Given the description of an element on the screen output the (x, y) to click on. 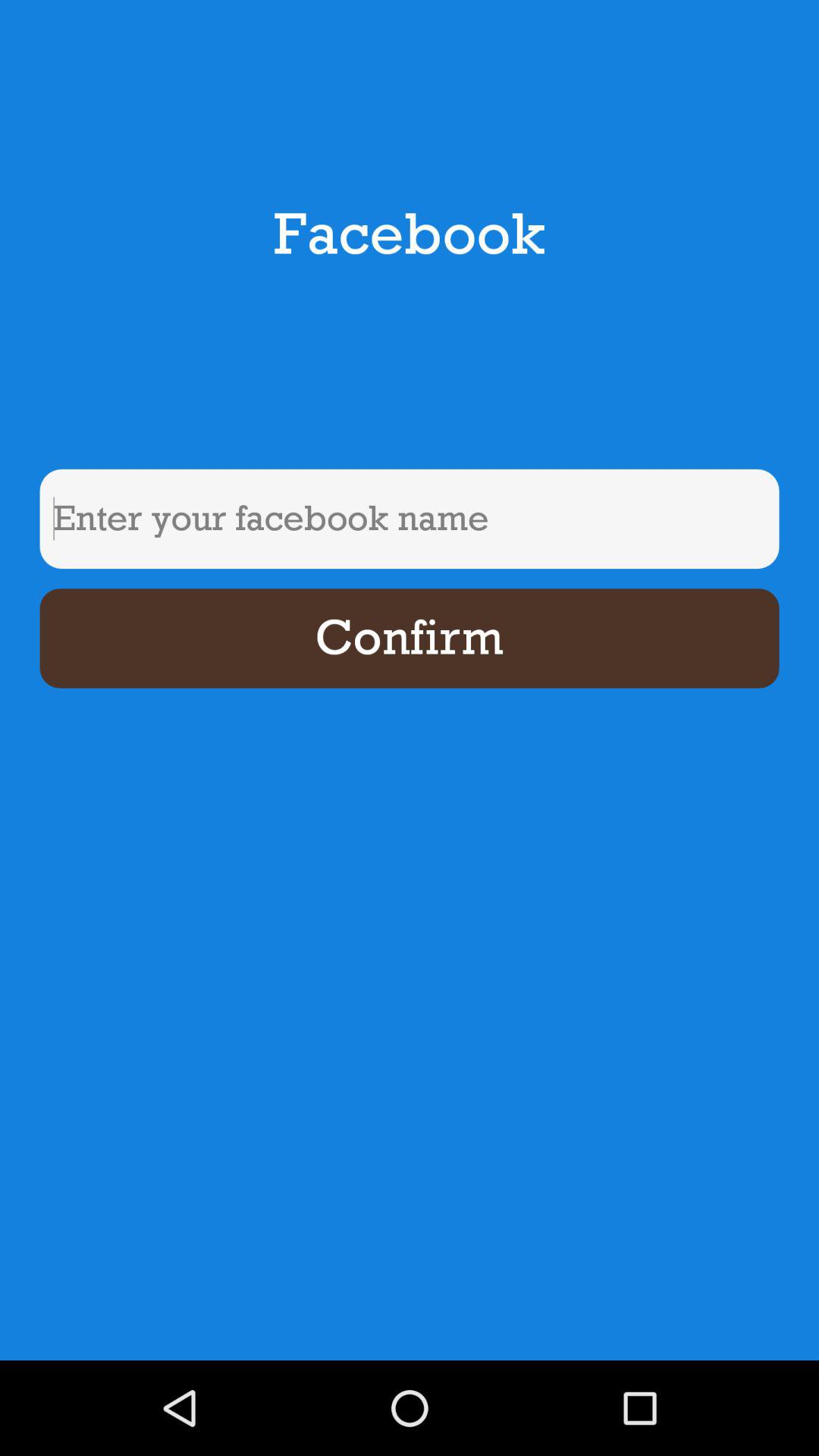
enter facebook name (409, 518)
